Given the description of an element on the screen output the (x, y) to click on. 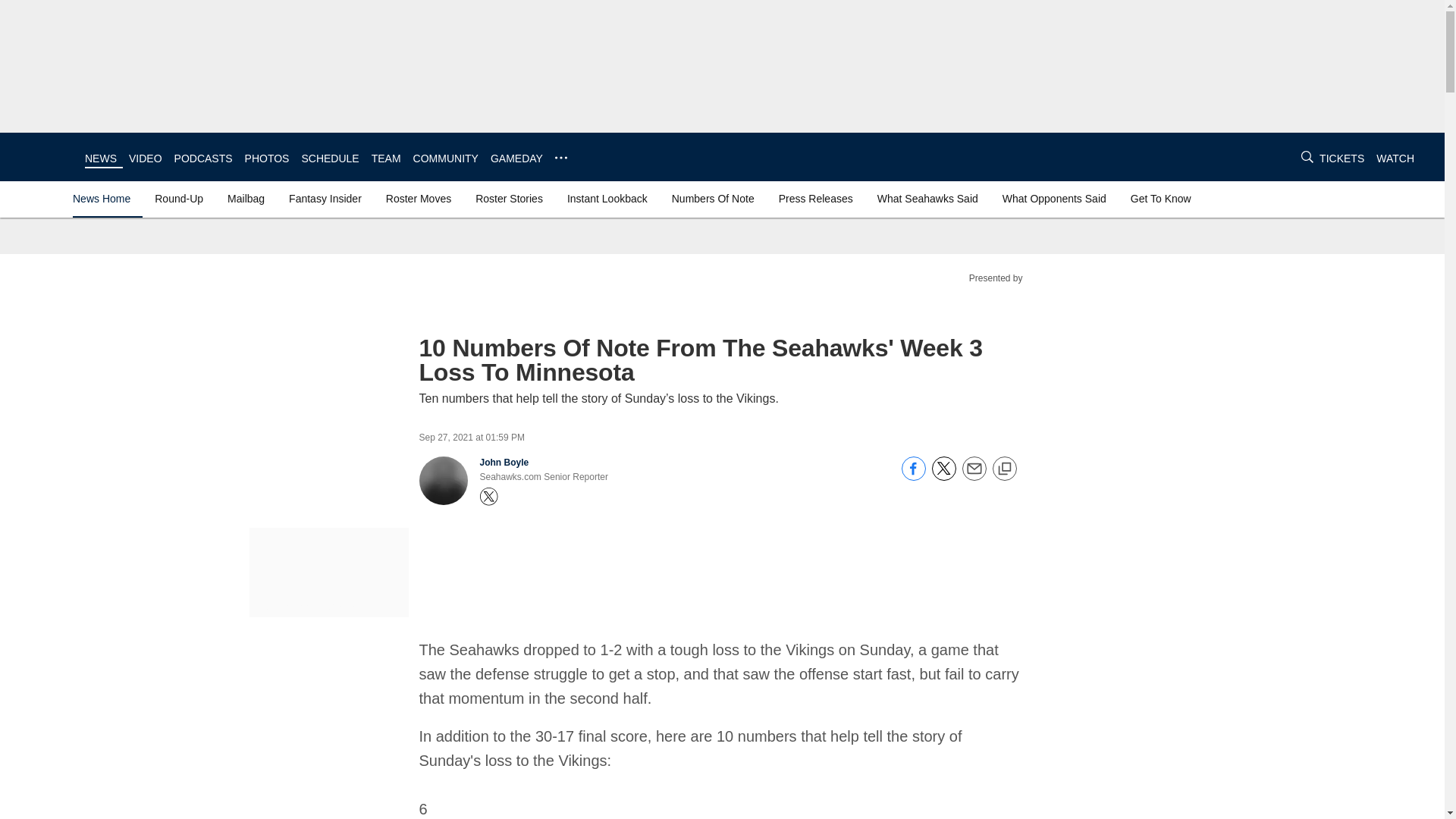
Link to club's homepage (42, 156)
VIDEO (145, 158)
What Seahawks Said (927, 198)
COMMUNITY (446, 158)
TEAM (386, 158)
Mailbag (245, 198)
SCHEDULE (329, 158)
News Home (104, 198)
TEAM (386, 158)
SCHEDULE (329, 158)
